Given the description of an element on the screen output the (x, y) to click on. 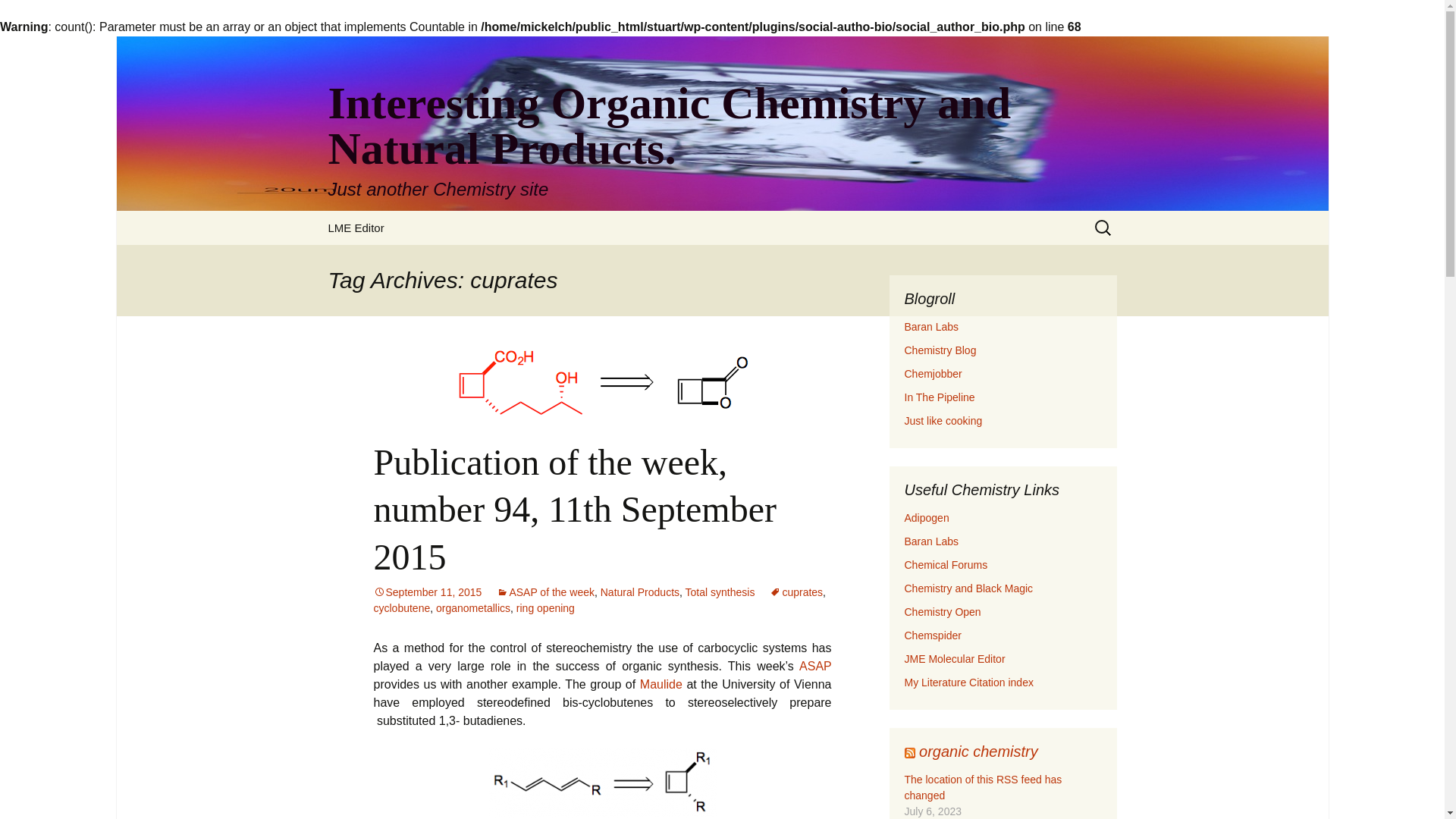
ring opening (545, 607)
Chemistry Blog (939, 349)
Chemistry Open (941, 612)
My Literature Citation index (968, 682)
ASAP (815, 666)
Maulide (661, 684)
Publication of the week, number 94, 11th September 2015 (574, 509)
The Labs. of Prof. Baran at Scripps (931, 541)
ASAP (815, 666)
